Given the description of an element on the screen output the (x, y) to click on. 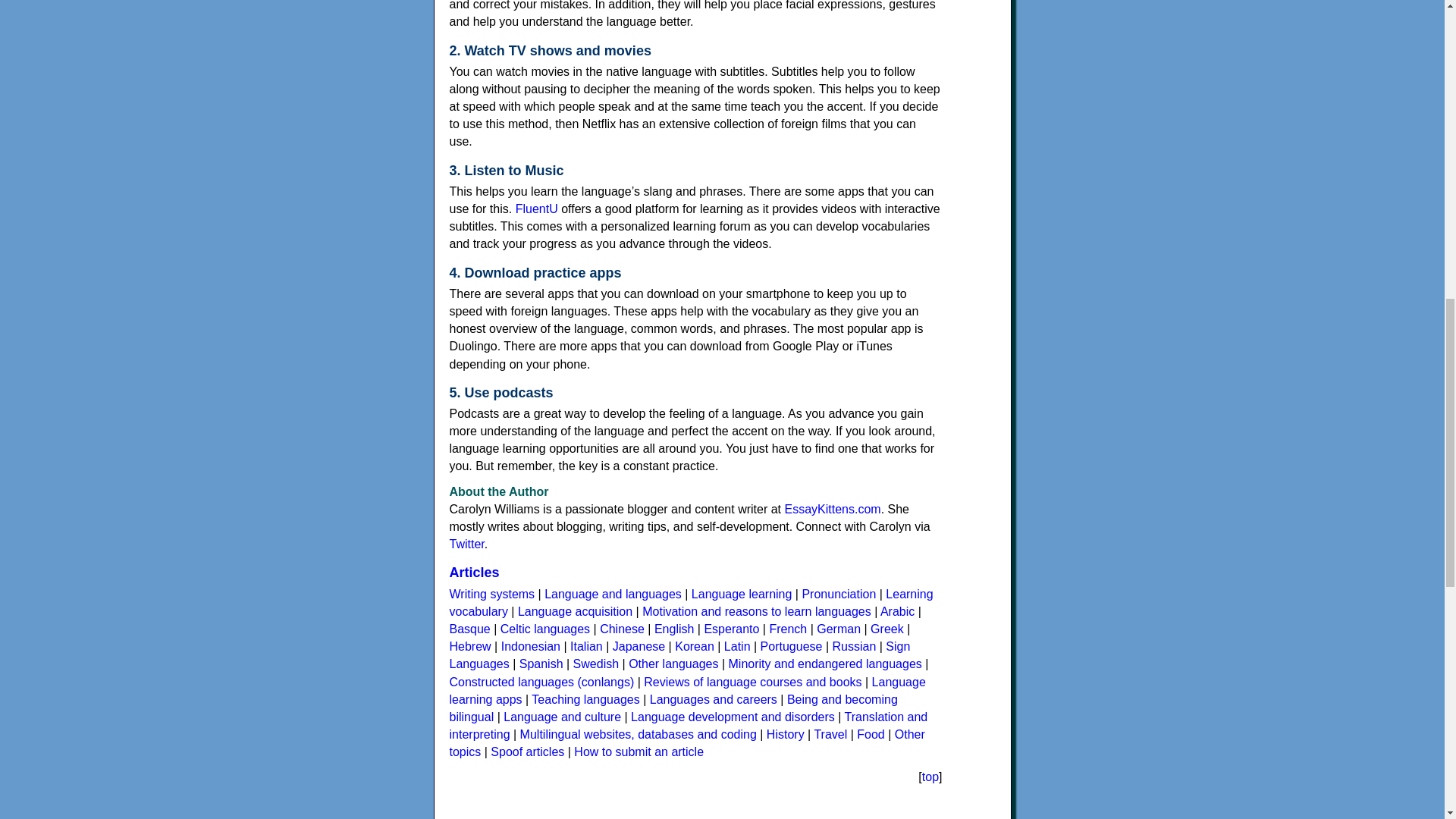
Esperanto (730, 628)
Japanese (638, 645)
English (673, 628)
Indonesian (530, 645)
Greek (887, 628)
Writing systems (491, 594)
Chinese (622, 628)
Pronunciation (839, 594)
Korean (694, 645)
Twitter (465, 543)
Articles (473, 572)
Italian (586, 645)
Language and languages (612, 594)
Celtic languages (544, 628)
French (787, 628)
